Given the description of an element on the screen output the (x, y) to click on. 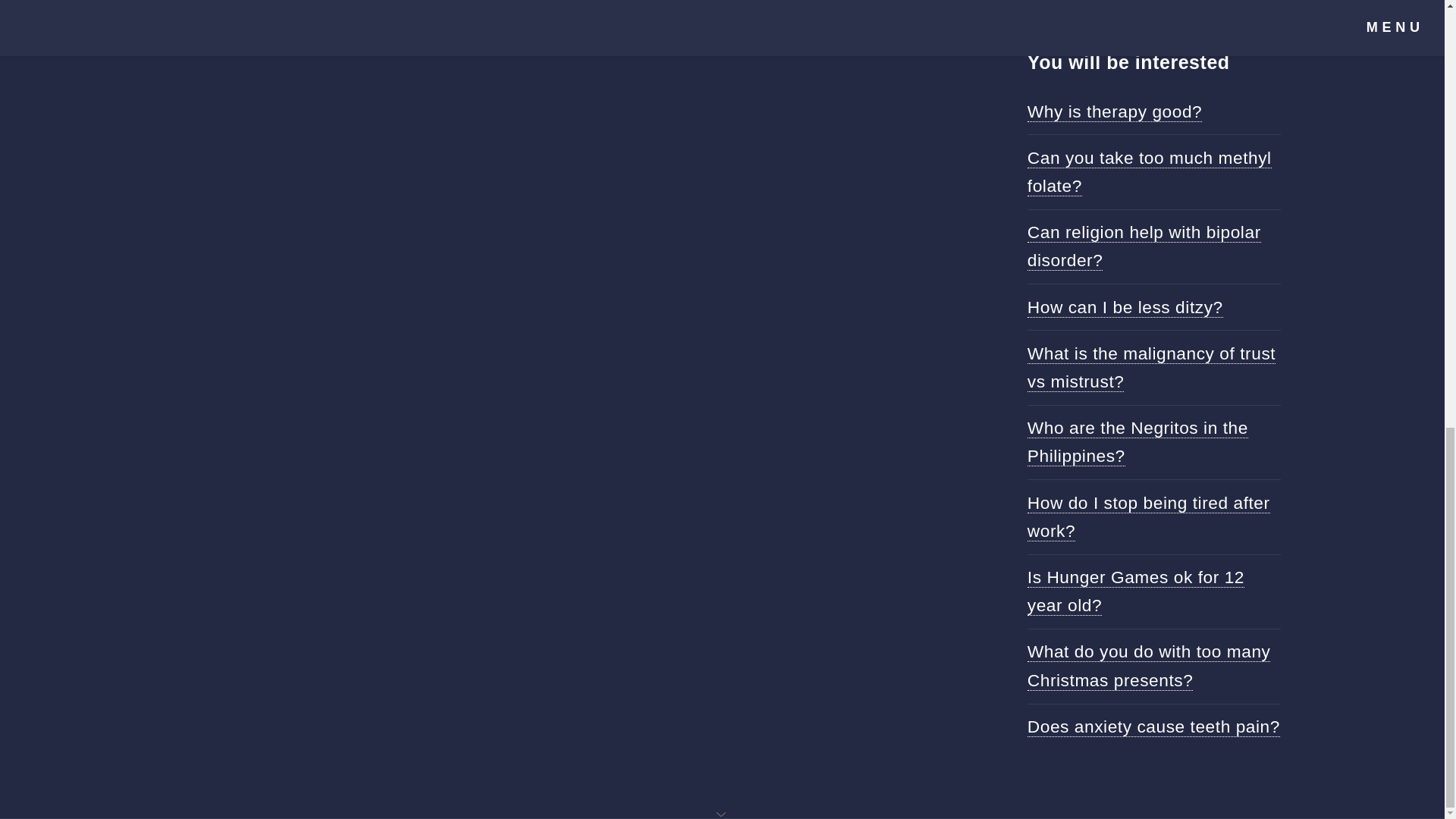
Why is therapy good? (1114, 111)
Who are the Negritos in the Philippines? (1137, 441)
How can I be less ditzy? (1125, 307)
Can you take too much methyl folate? (1149, 172)
What do you do with too many Christmas presents? (1149, 665)
Is Hunger Games ok for 12 year old? (1135, 591)
Does anxiety cause teeth pain? (1153, 726)
How do I stop being tired after work? (1148, 517)
What is the malignancy of trust vs mistrust? (1151, 367)
Can religion help with bipolar disorder? (1143, 246)
